Given the description of an element on the screen output the (x, y) to click on. 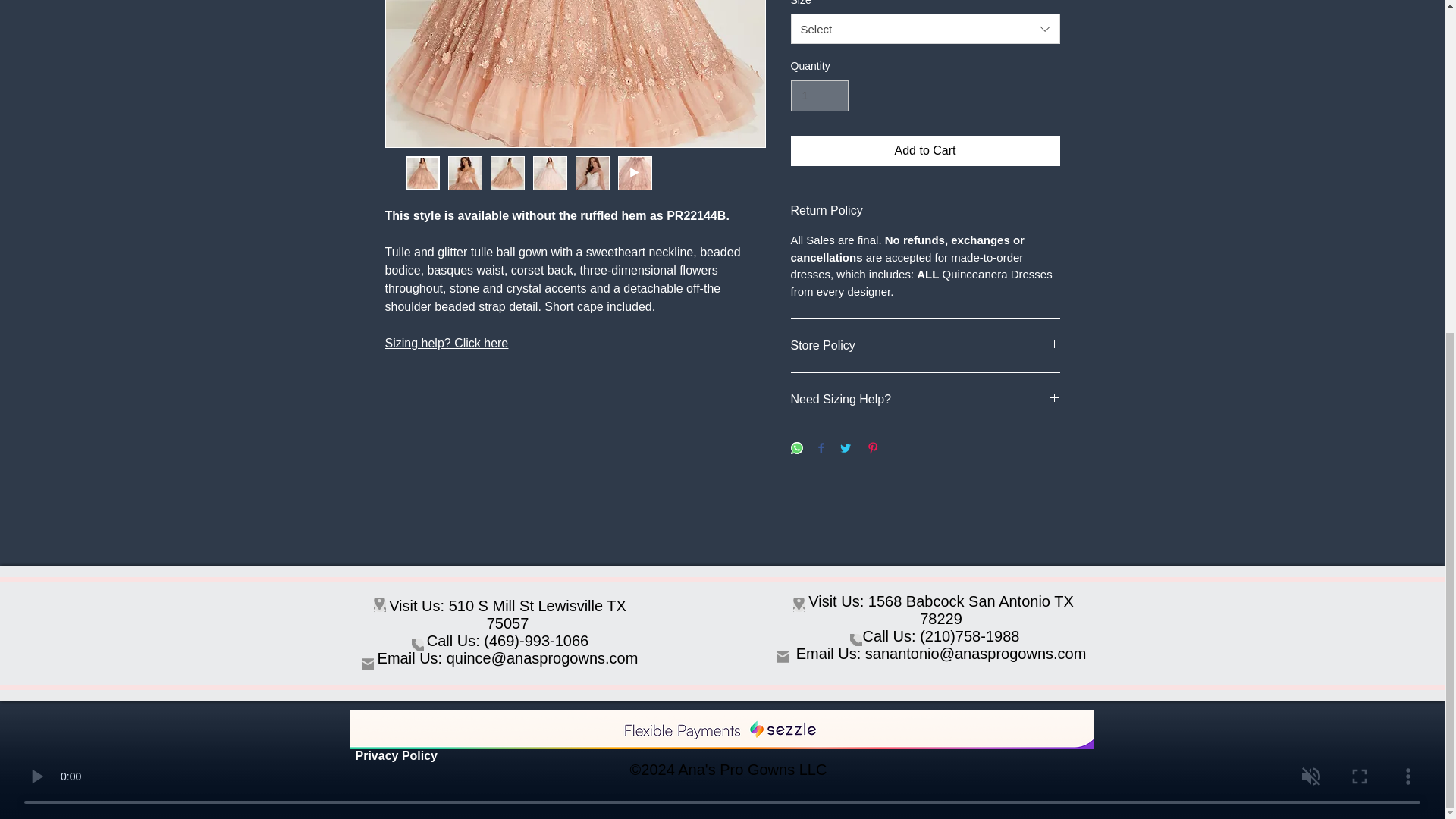
Add to Cart (924, 150)
Return Policy (924, 210)
Select (924, 28)
1 (818, 95)
Click here (481, 342)
